Given the description of an element on the screen output the (x, y) to click on. 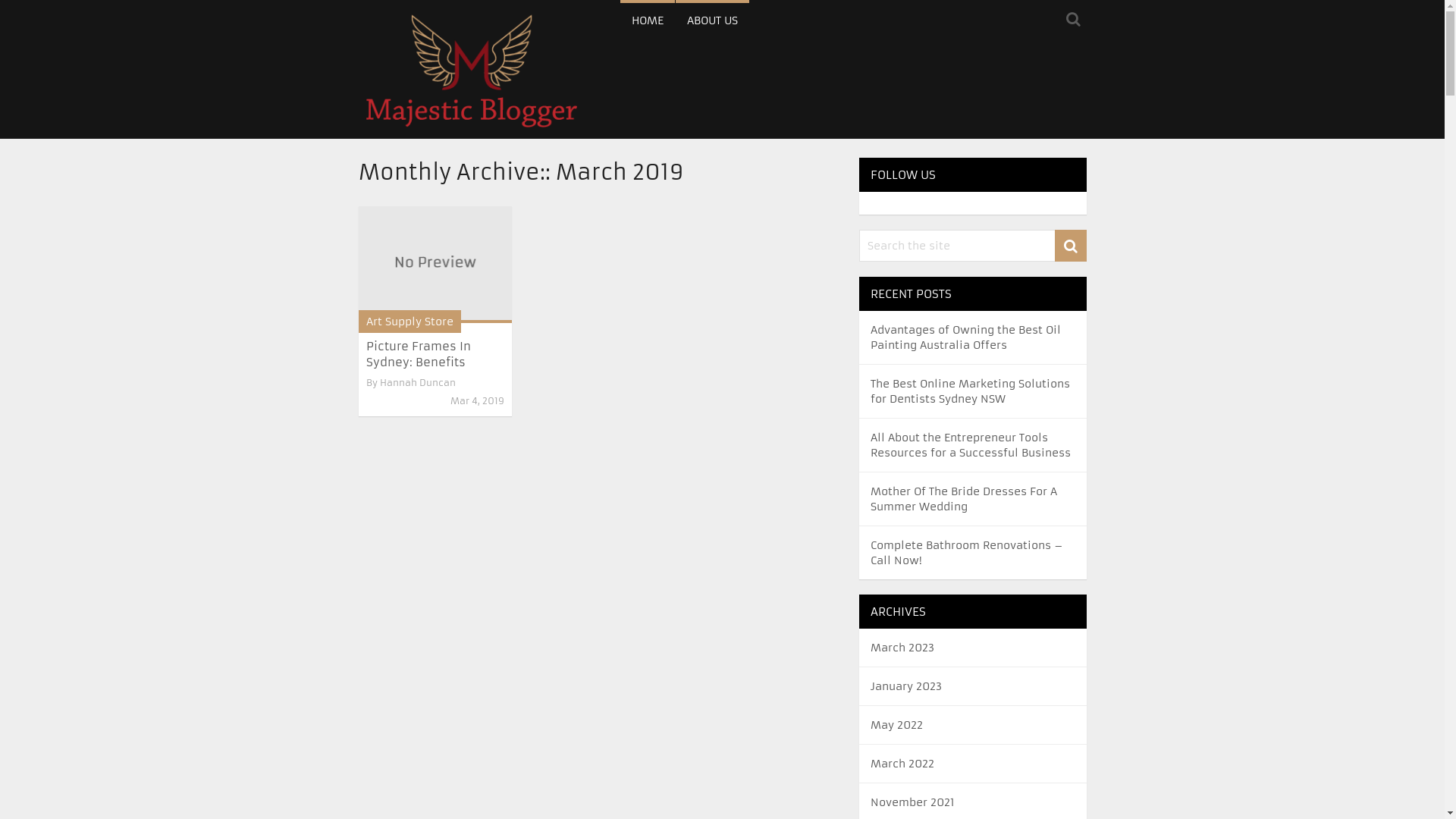
Art Supply Store Element type: text (408, 321)
The Best Online Marketing Solutions for Dentists Sydney NSW Element type: text (970, 390)
Picture Frames In Sydney: Benefits Element type: text (417, 353)
ABOUT US Element type: text (711, 18)
May 2022 Element type: text (896, 724)
Picture Frames In Sydney: Benefits Element type: hover (434, 264)
HOME Element type: text (647, 18)
January 2023 Element type: text (905, 686)
Advantages of Owning the Best Oil Painting Australia Offers Element type: text (965, 337)
March 2023 Element type: text (902, 647)
Mother Of The Bride Dresses For A Summer Wedding Element type: text (963, 498)
Hannah Duncan Element type: text (417, 382)
March 2022 Element type: text (902, 763)
November 2021 Element type: text (912, 802)
